Given the description of an element on the screen output the (x, y) to click on. 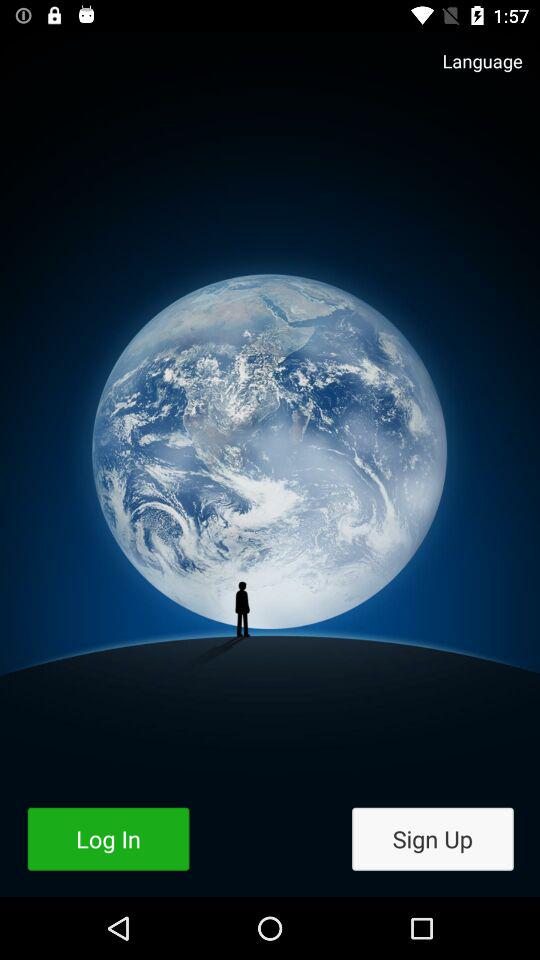
tap the item to the left of the sign up item (108, 838)
